Given the description of an element on the screen output the (x, y) to click on. 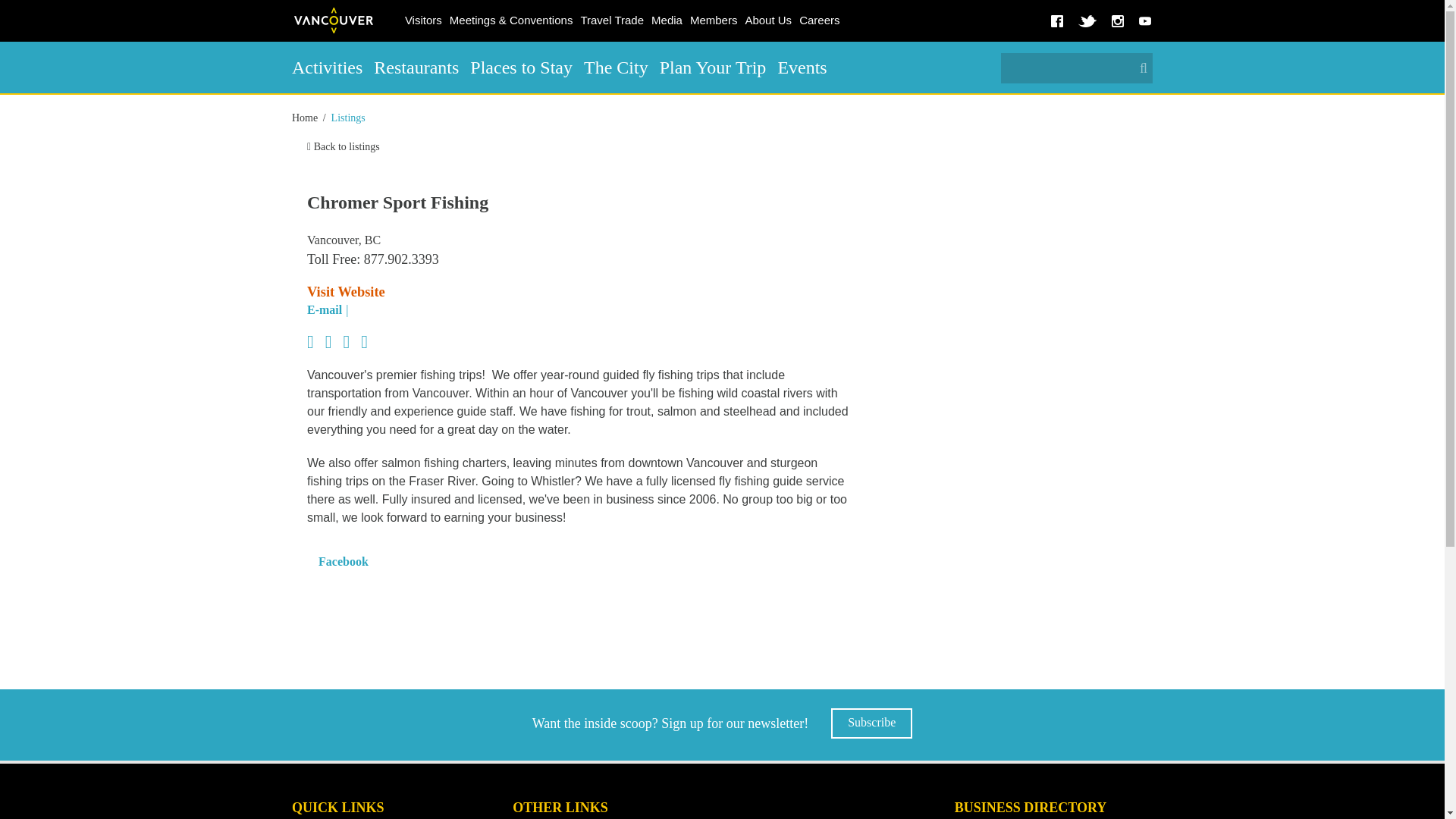
Visitors (423, 20)
Activities (327, 67)
About Us (767, 20)
Travel Trade (611, 20)
Members (713, 20)
Media (666, 20)
Careers (818, 20)
